Given the description of an element on the screen output the (x, y) to click on. 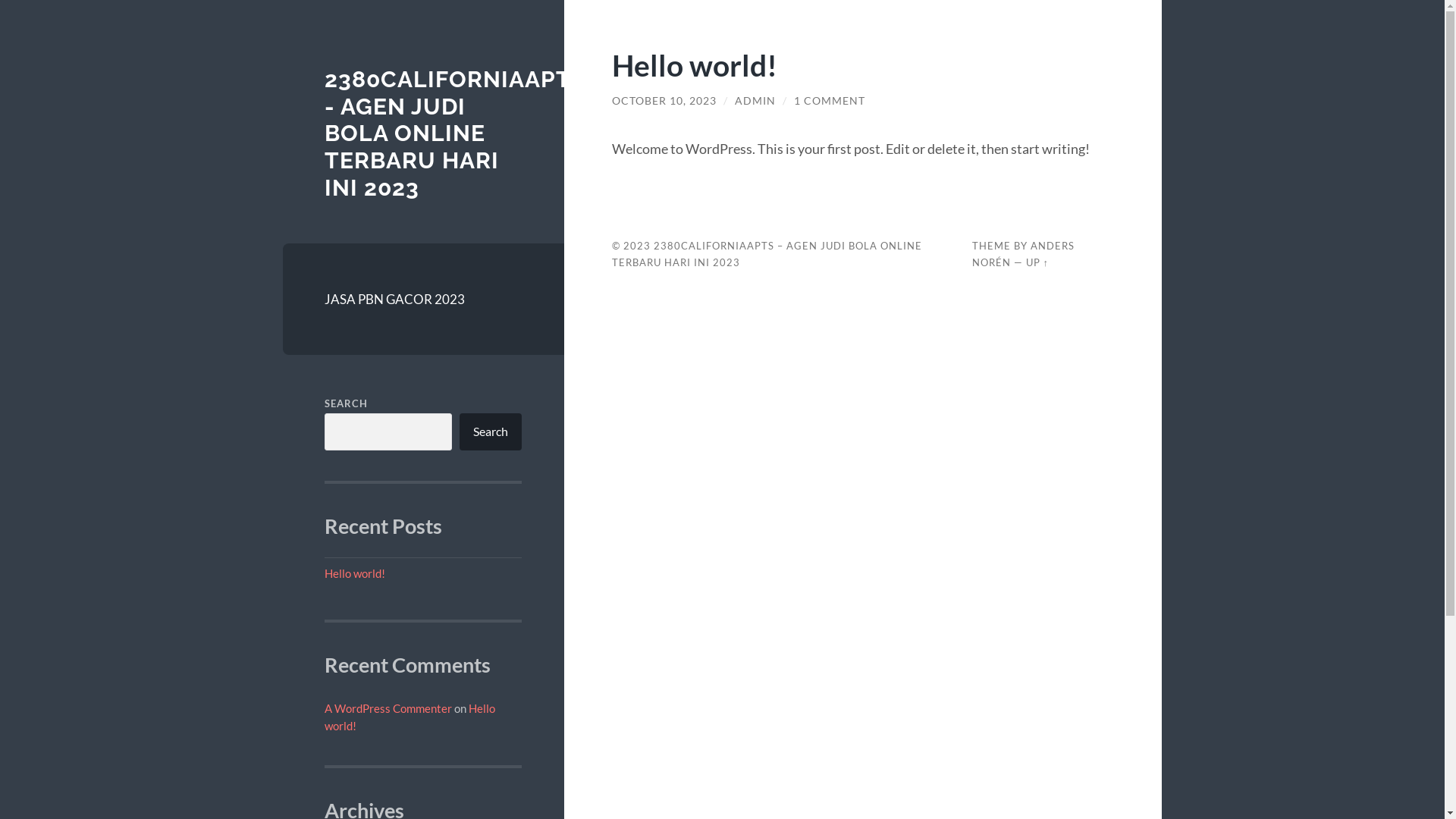
Hello world! Element type: text (409, 716)
OCTOBER 10, 2023 Element type: text (663, 100)
A WordPress Commenter Element type: text (387, 708)
1 COMMENT Element type: text (829, 100)
Hello world! Element type: text (694, 64)
Search Element type: text (490, 431)
JASA PBN GACOR 2023 Element type: text (422, 299)
Hello world! Element type: text (354, 573)
ADMIN Element type: text (754, 100)
